Given the description of an element on the screen output the (x, y) to click on. 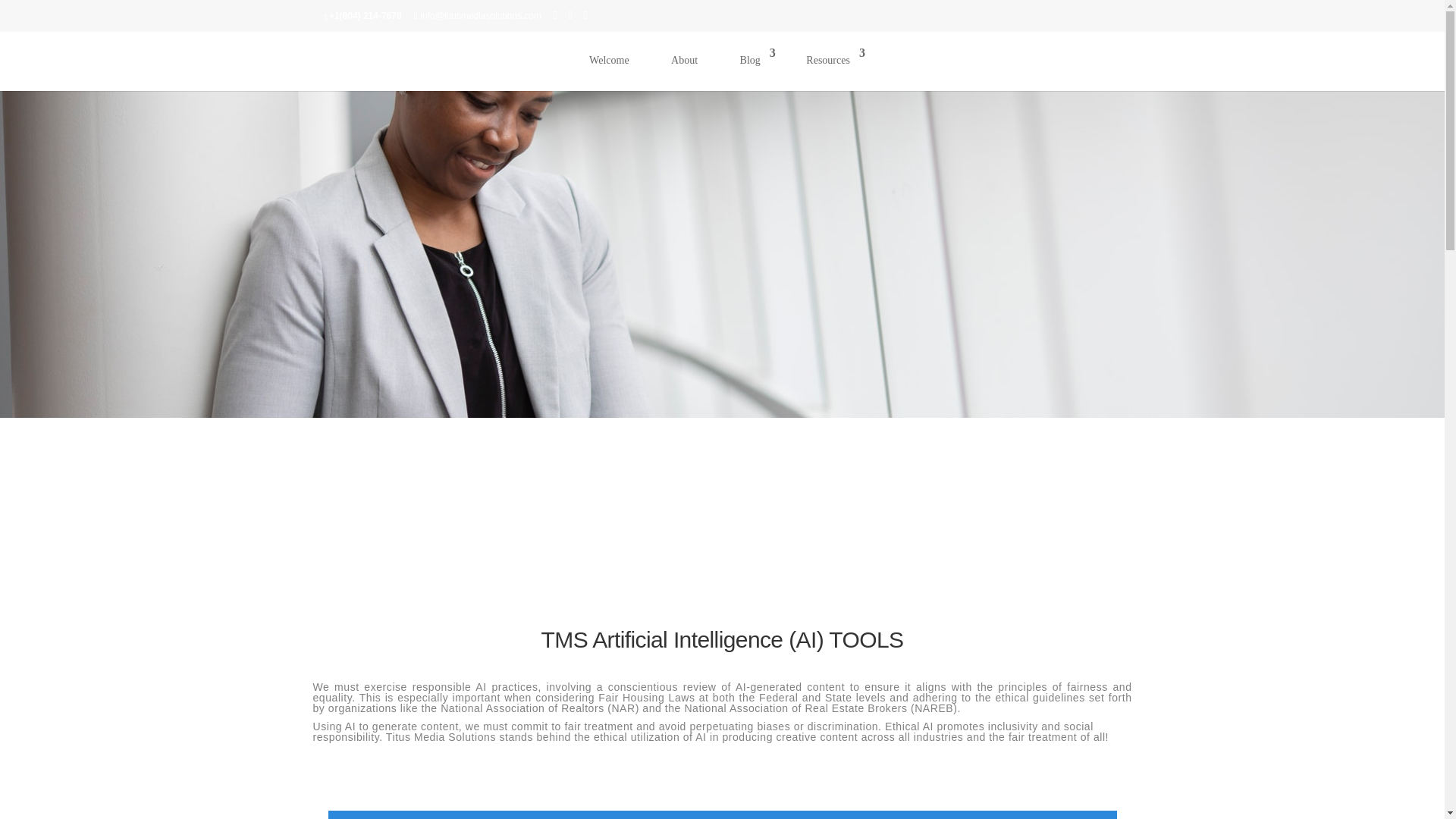
Blog (752, 68)
Welcome (609, 68)
Welcome to the home of solutions. (609, 68)
About (684, 68)
Resources (829, 68)
